Given the description of an element on the screen output the (x, y) to click on. 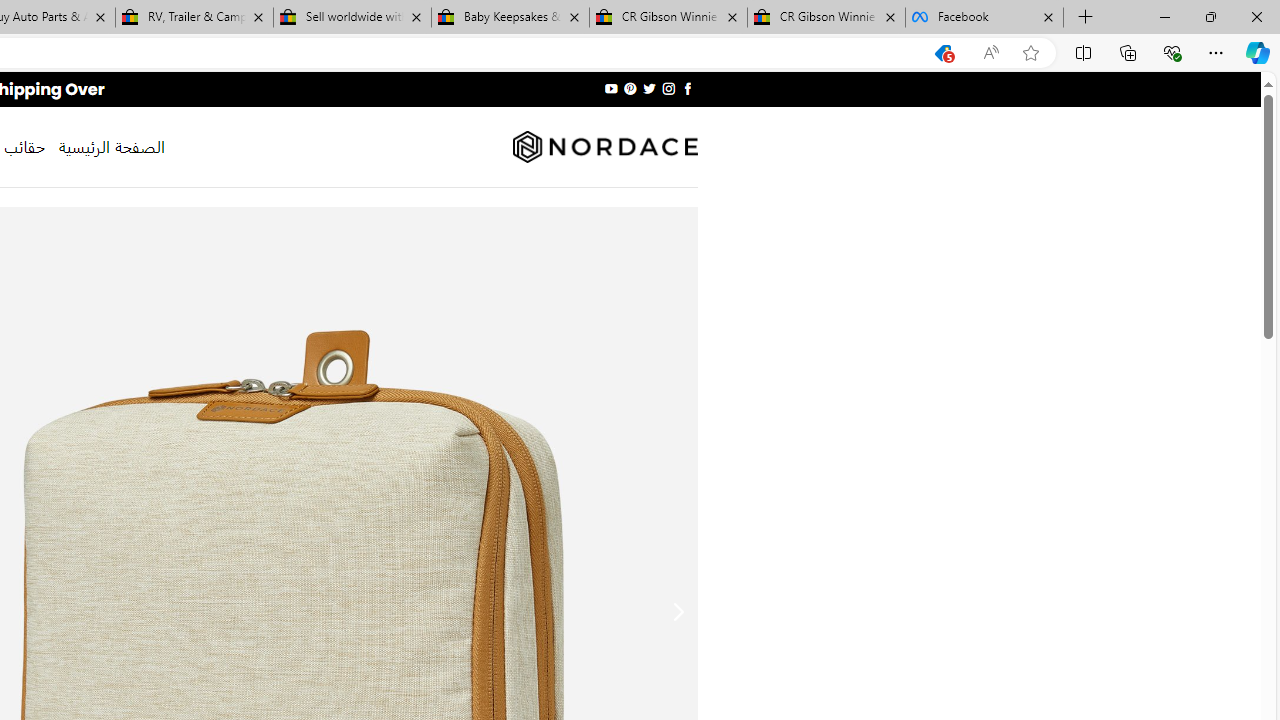
You have the best price! (943, 53)
Settings and more (Alt+F) (1215, 52)
Close (1256, 16)
Facebook (984, 17)
Read aloud this page (Ctrl+Shift+U) (991, 53)
Nordace (604, 147)
Minimize (1164, 16)
Sell worldwide with eBay (352, 17)
Follow on Facebook (686, 88)
Follow on Instagram (667, 88)
Follow on Pinterest (630, 88)
New Tab (1085, 17)
Follow on Twitter (648, 88)
